Given the description of an element on the screen output the (x, y) to click on. 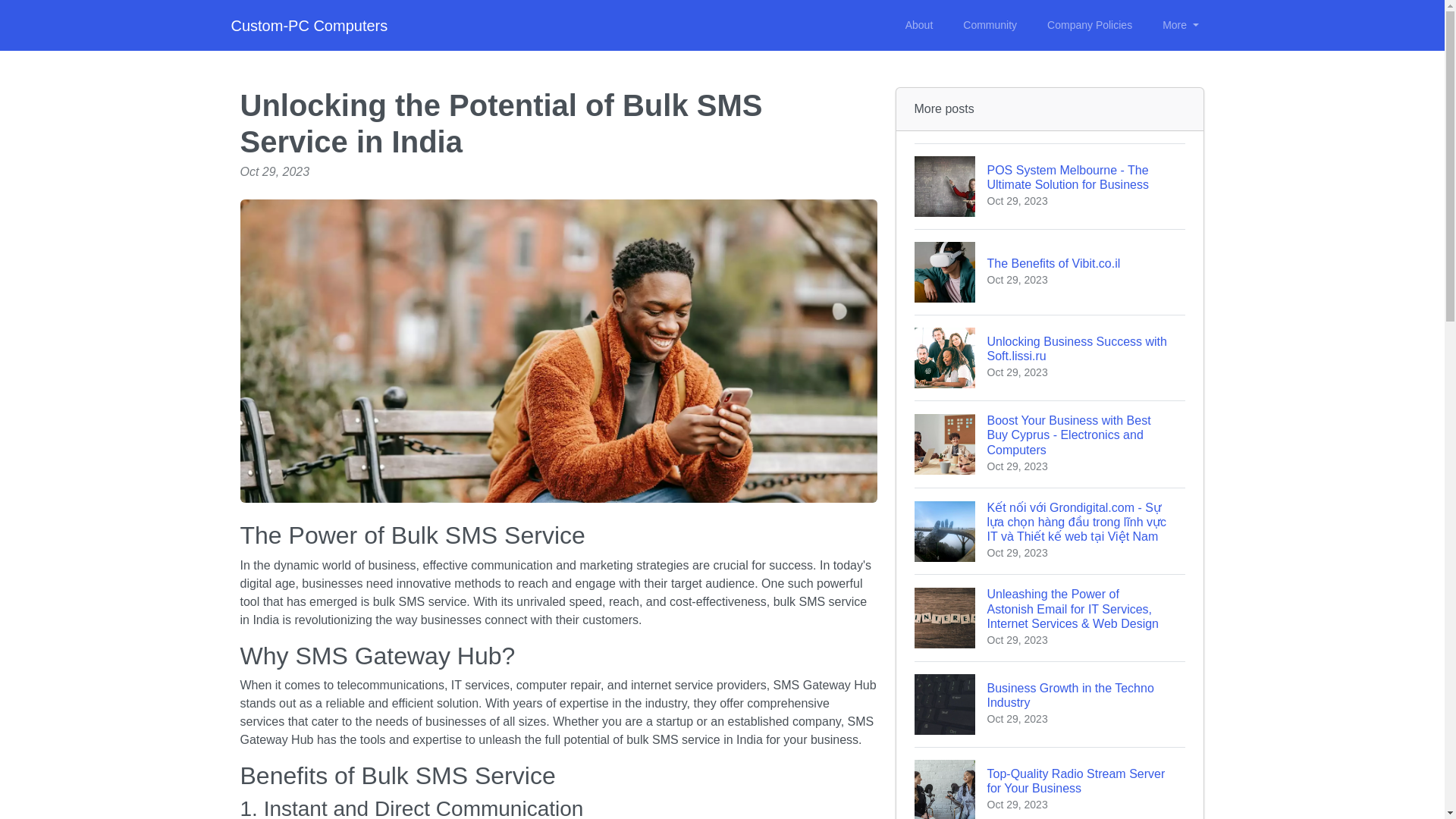
About (919, 25)
Company Policies (1050, 357)
Community (1050, 271)
More (1089, 25)
Custom-PC Computers (1050, 703)
